Given the description of an element on the screen output the (x, y) to click on. 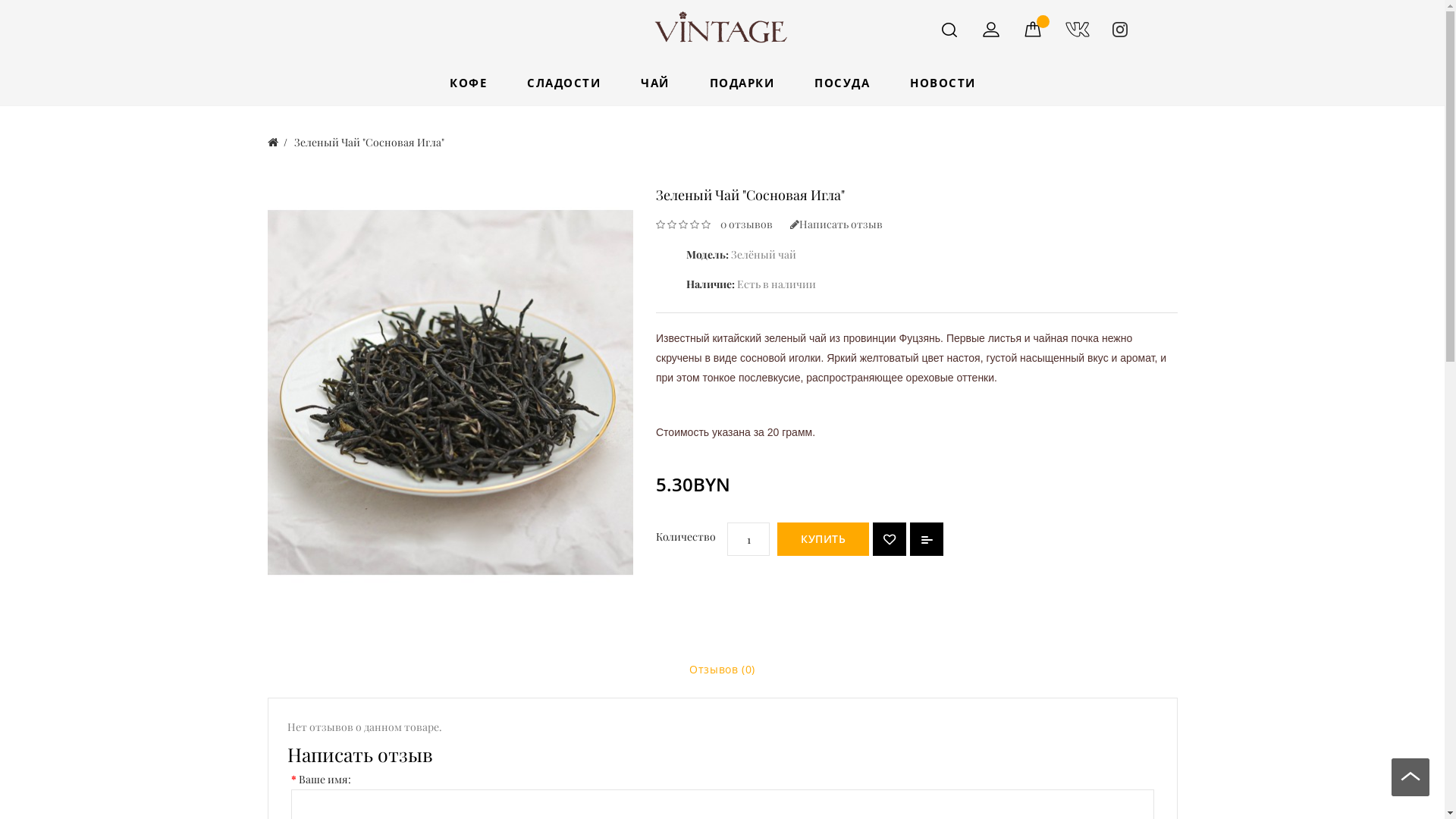
TOP Element type: text (1410, 780)
